Given the description of an element on the screen output the (x, y) to click on. 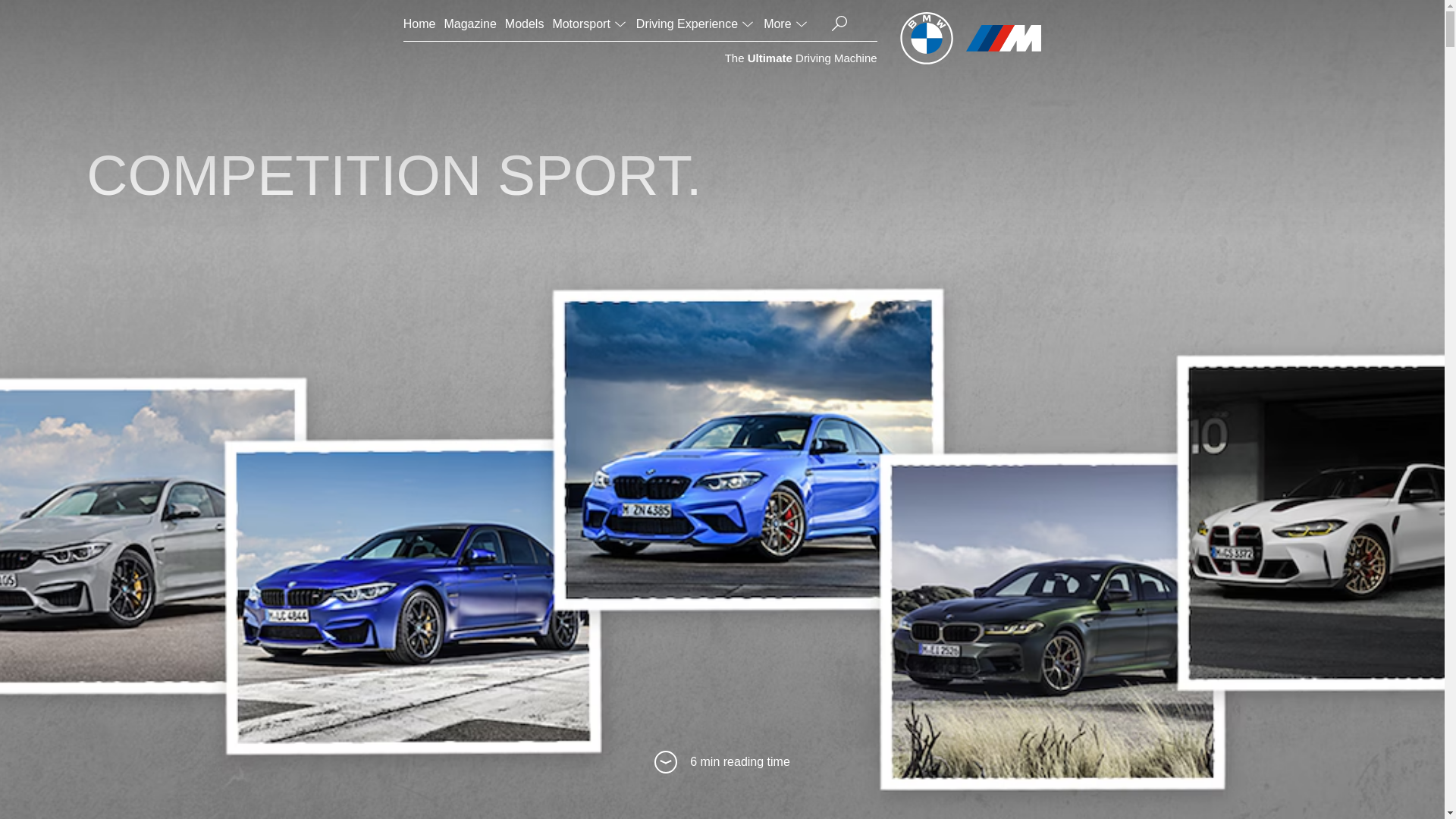
Motorsport (589, 24)
More (785, 24)
Magazine (470, 24)
Driving Experience (695, 24)
Magazine (470, 24)
